Given the description of an element on the screen output the (x, y) to click on. 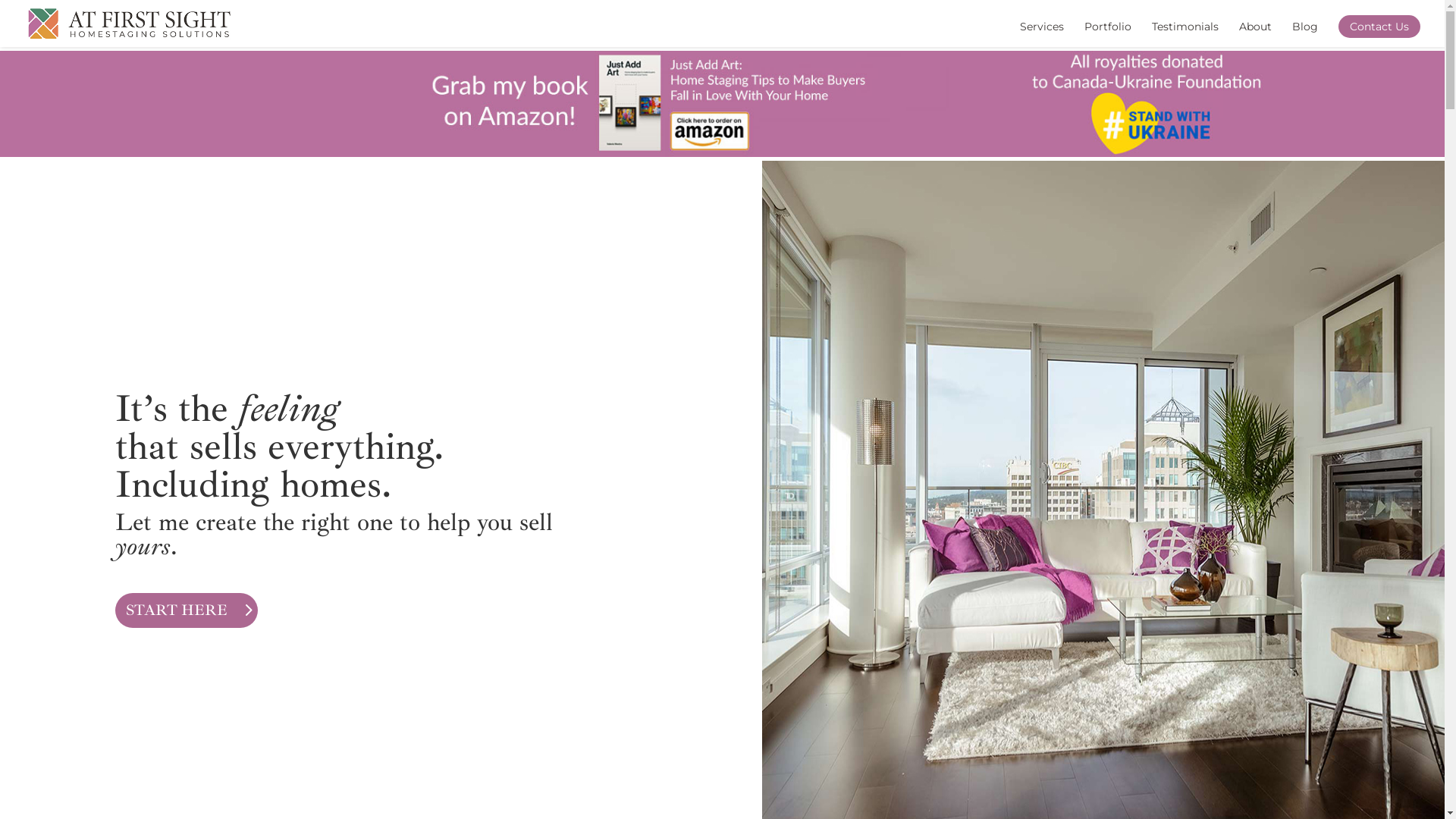
Portfolio Element type: text (1107, 34)
Contact Us Element type: text (1379, 26)
About Element type: text (1255, 34)
Testimonials Element type: text (1184, 34)
START HERE Element type: text (186, 610)
Blog Element type: text (1304, 34)
Services Element type: text (1041, 34)
